Given the description of an element on the screen output the (x, y) to click on. 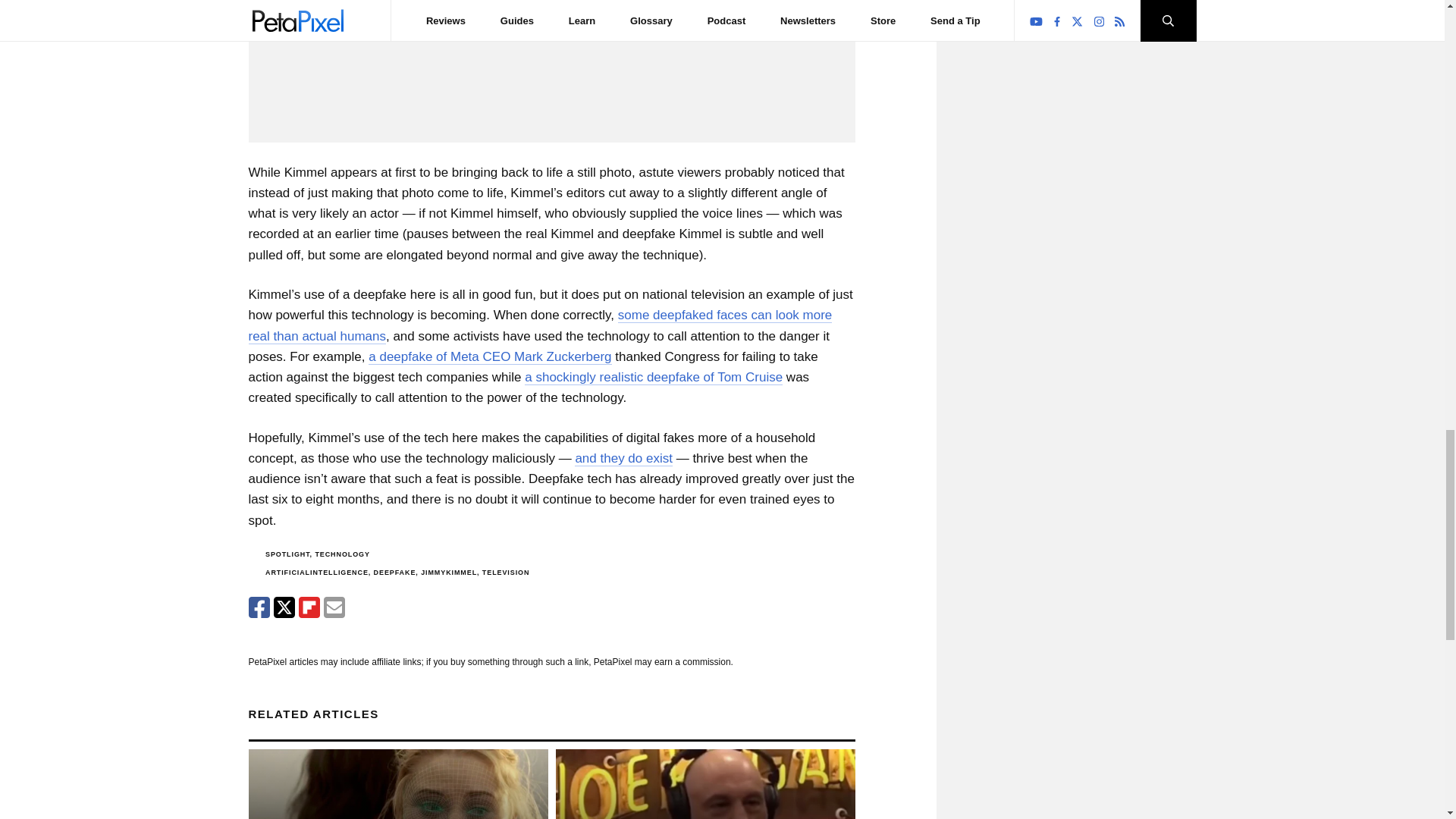
a deepfake of Meta CEO Mark Zuckerberg (489, 356)
SPOTLIGHT (287, 553)
TECHNOLOGY (341, 553)
a shockingly realistic deepfake of Tom Cruise (653, 377)
Share on facebook (258, 607)
JIMMYKIMMEL (448, 572)
TELEVISION (505, 572)
Email this article (333, 607)
ARTIFICIALINTELLIGENCE (316, 572)
and they do exist (623, 458)
DEEPFAKE (395, 572)
some deepfaked faces can look more real than actual humans (540, 325)
Share on X (283, 607)
Share on Flipboard (309, 607)
